Given the description of an element on the screen output the (x, y) to click on. 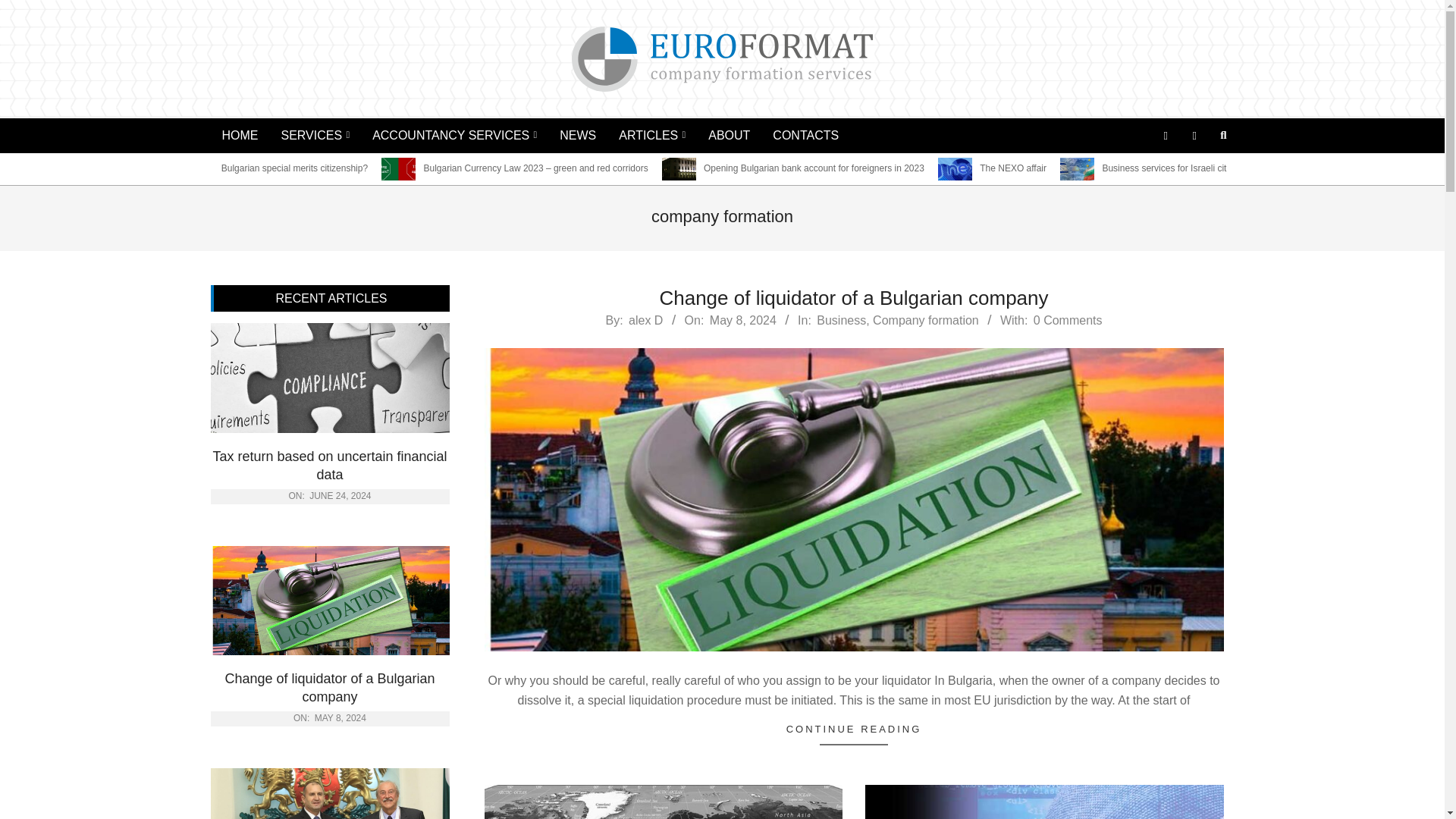
ABOUT (729, 134)
The NEXO affair (1012, 167)
How to obtain Bulgarian special merits citizenship? (265, 167)
Opening Bulgarian bank account for foreigners in 2023 (813, 167)
CONTACTS (805, 134)
ARTICLES (652, 134)
Wednesday, May 8, 2024, 5:39 pm (743, 319)
Posts by alex D (645, 319)
Search (19, 7)
HOME (240, 134)
